Given the description of an element on the screen output the (x, y) to click on. 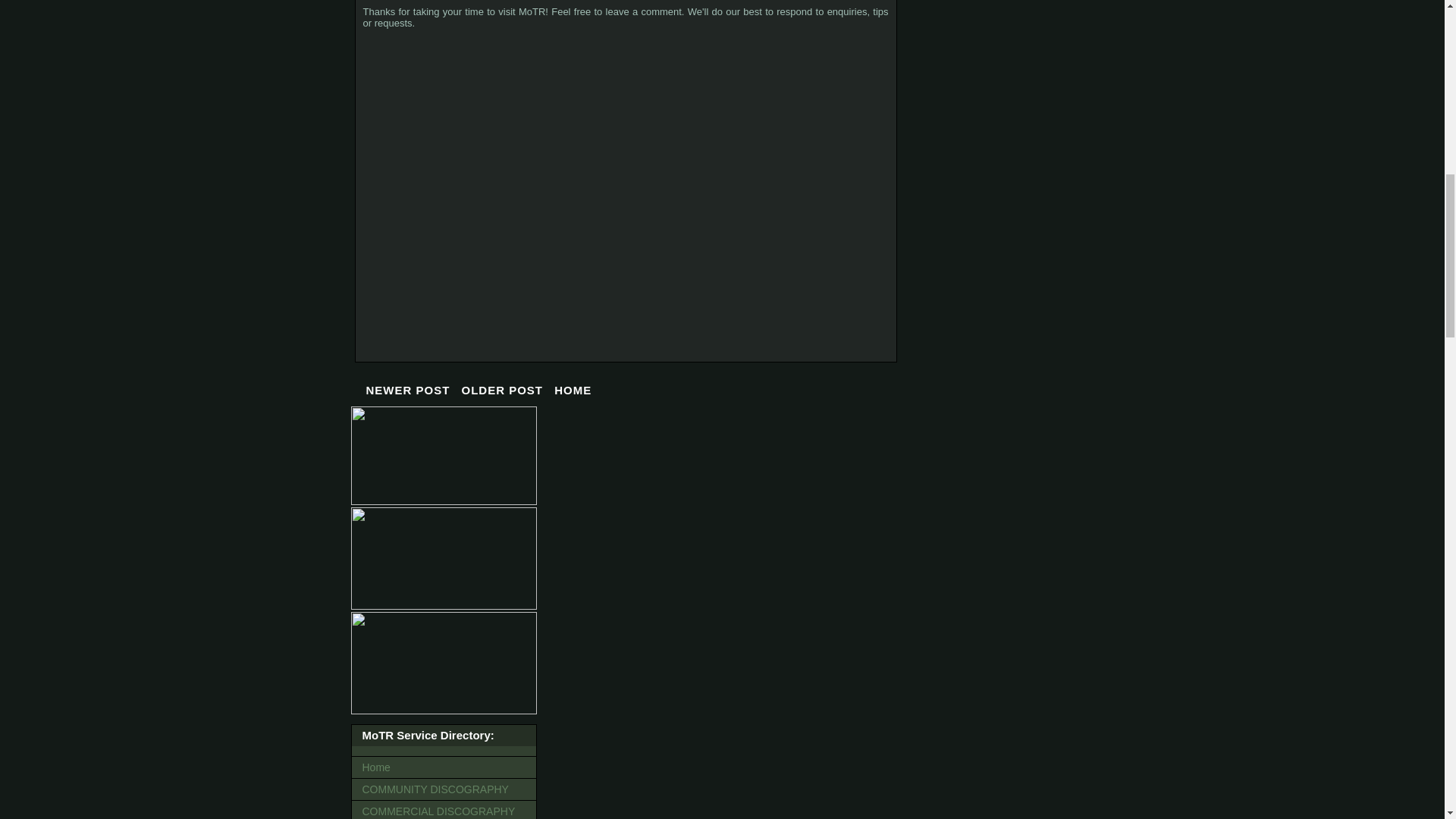
COMMERCIAL DISCOGRAPHY (443, 809)
Older Post (502, 390)
Newer Post (408, 390)
Home (443, 767)
NEWER POST (408, 390)
HOME (572, 390)
COMMUNITY DISCOGRAPHY (443, 789)
OLDER POST (502, 390)
